Given the description of an element on the screen output the (x, y) to click on. 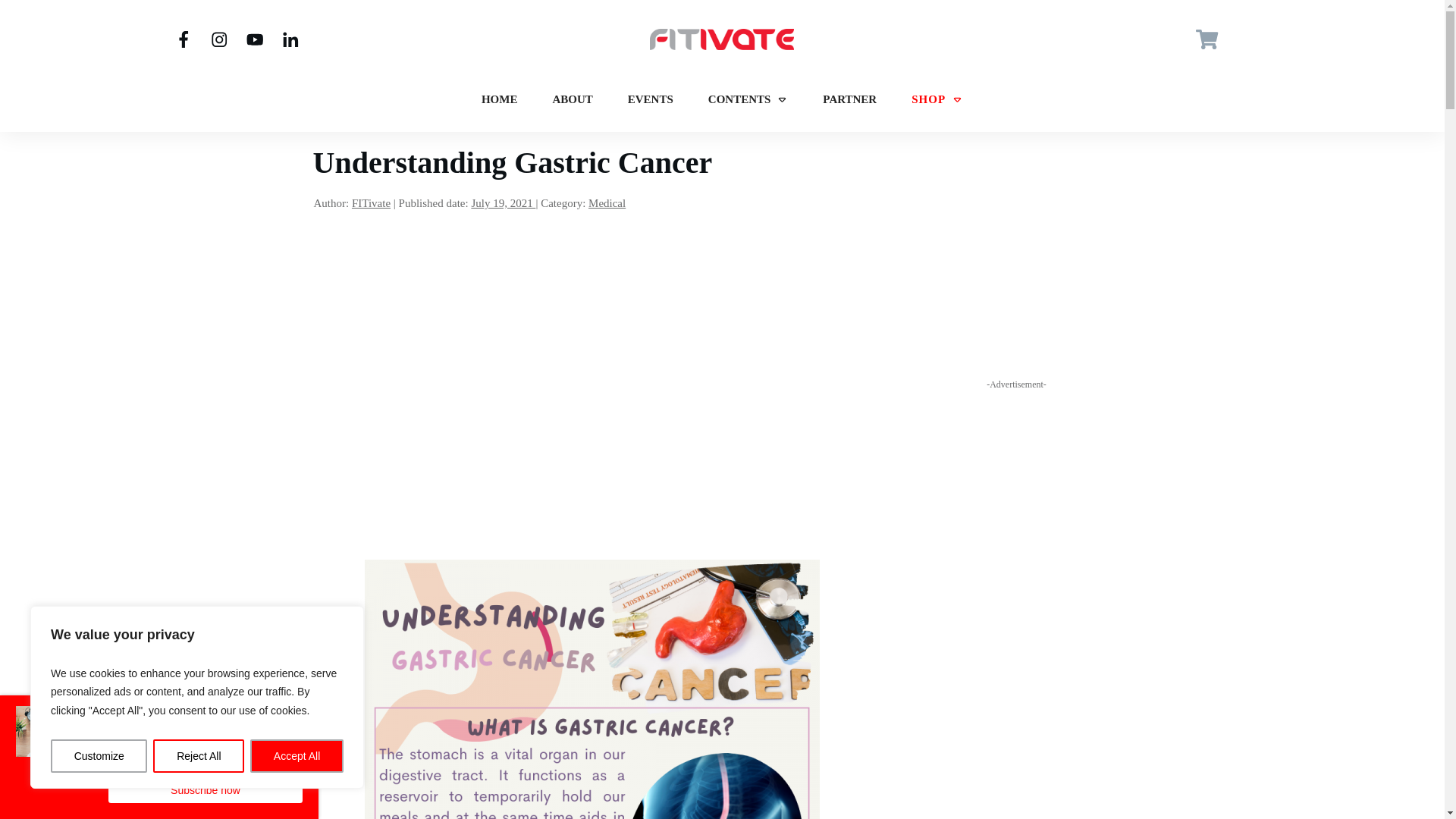
PARTNER (849, 98)
ABOUT (571, 98)
Accept All (296, 756)
HOME (499, 98)
SHOP (936, 98)
Medical (607, 203)
Customize (98, 756)
Understanding Gastric Cancer (512, 162)
Reject All (198, 756)
Medical (607, 203)
CONTENTS (748, 98)
Understanding Gastric Cancer (512, 162)
EVENTS (649, 98)
Form 0 (1016, 254)
